Given the description of an element on the screen output the (x, y) to click on. 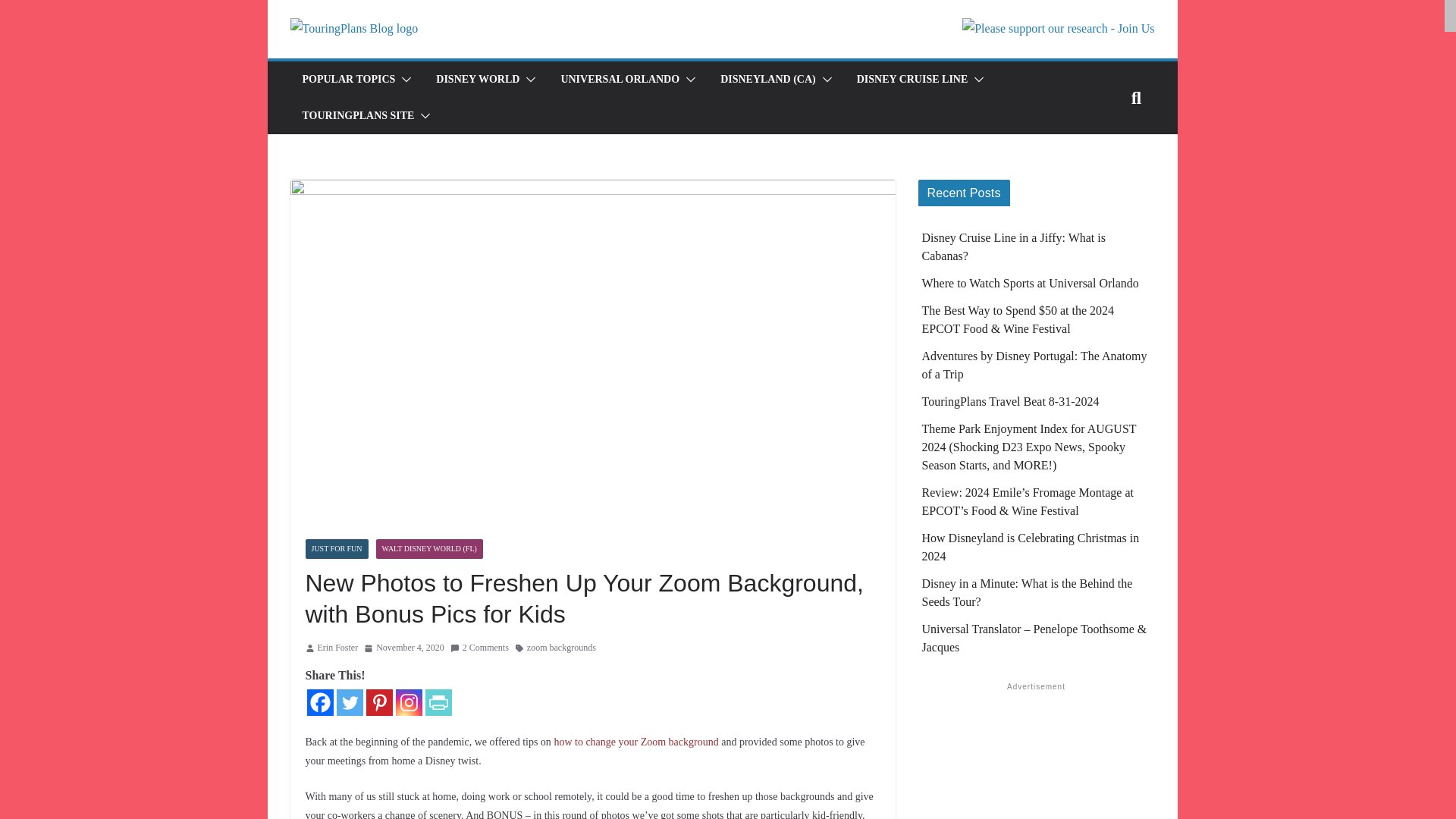
PrintFriendly (438, 702)
Erin Foster (337, 647)
DISNEY WORLD (477, 79)
POPULAR TOPICS (347, 79)
DISNEY CRUISE LINE (912, 79)
Instagram (409, 702)
Facebook (319, 702)
UNIVERSAL ORLANDO (619, 79)
Pinterest (378, 702)
TOURINGPLANS SITE (357, 115)
